Given the description of an element on the screen output the (x, y) to click on. 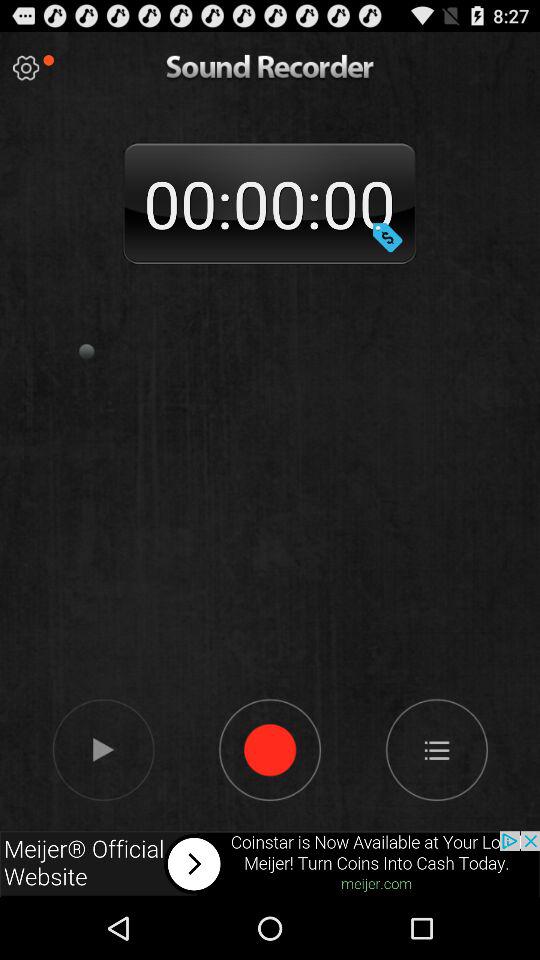
click button (26, 68)
